Given the description of an element on the screen output the (x, y) to click on. 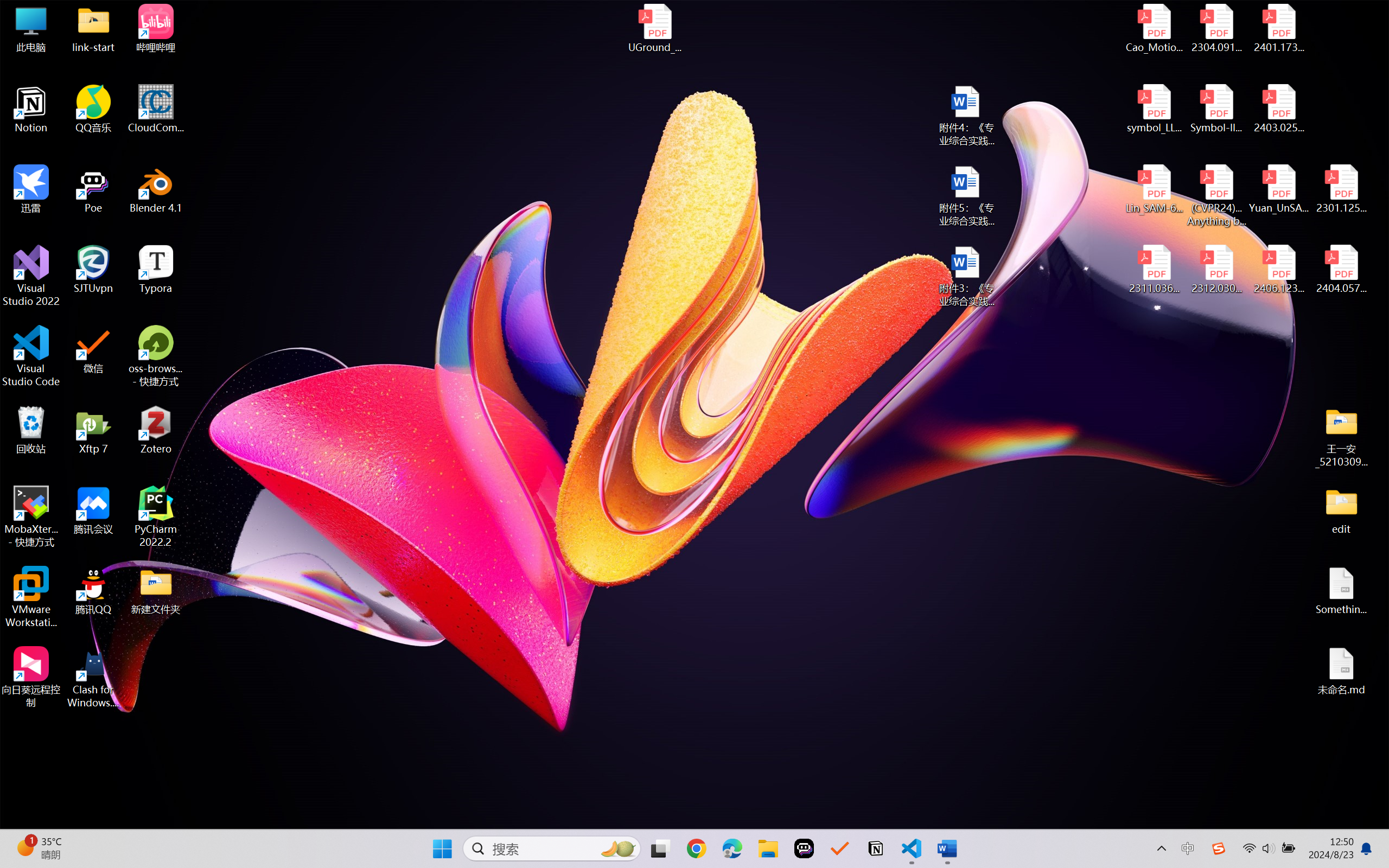
Blender 4.1 (156, 189)
2403.02502v1.pdf (1278, 109)
(CVPR24)Matching Anything by Segmenting Anything.pdf (1216, 195)
